Given the description of an element on the screen output the (x, y) to click on. 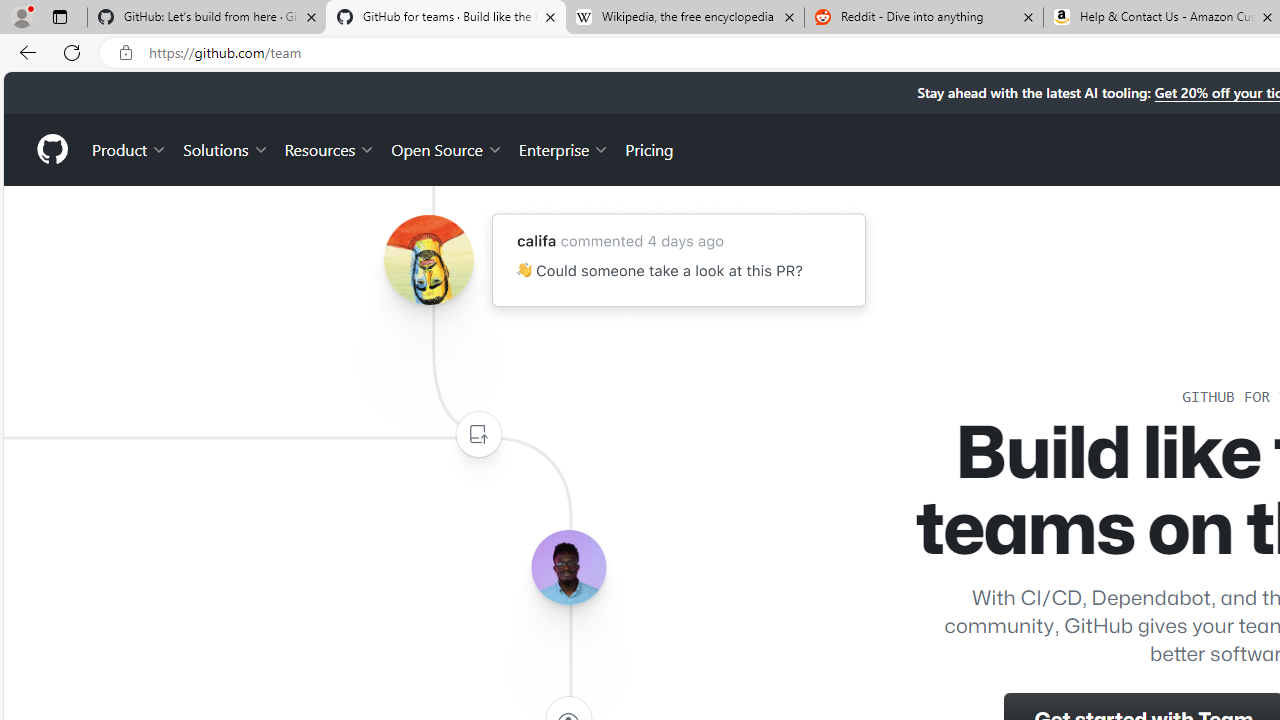
Product (130, 148)
Enterprise (563, 148)
Pricing (649, 148)
Product (130, 148)
Class: color-fg-muted width-full (478, 434)
Solutions (225, 148)
Avatar of the user califa (428, 260)
Open Source (446, 148)
Resources (330, 148)
